Given the description of an element on the screen output the (x, y) to click on. 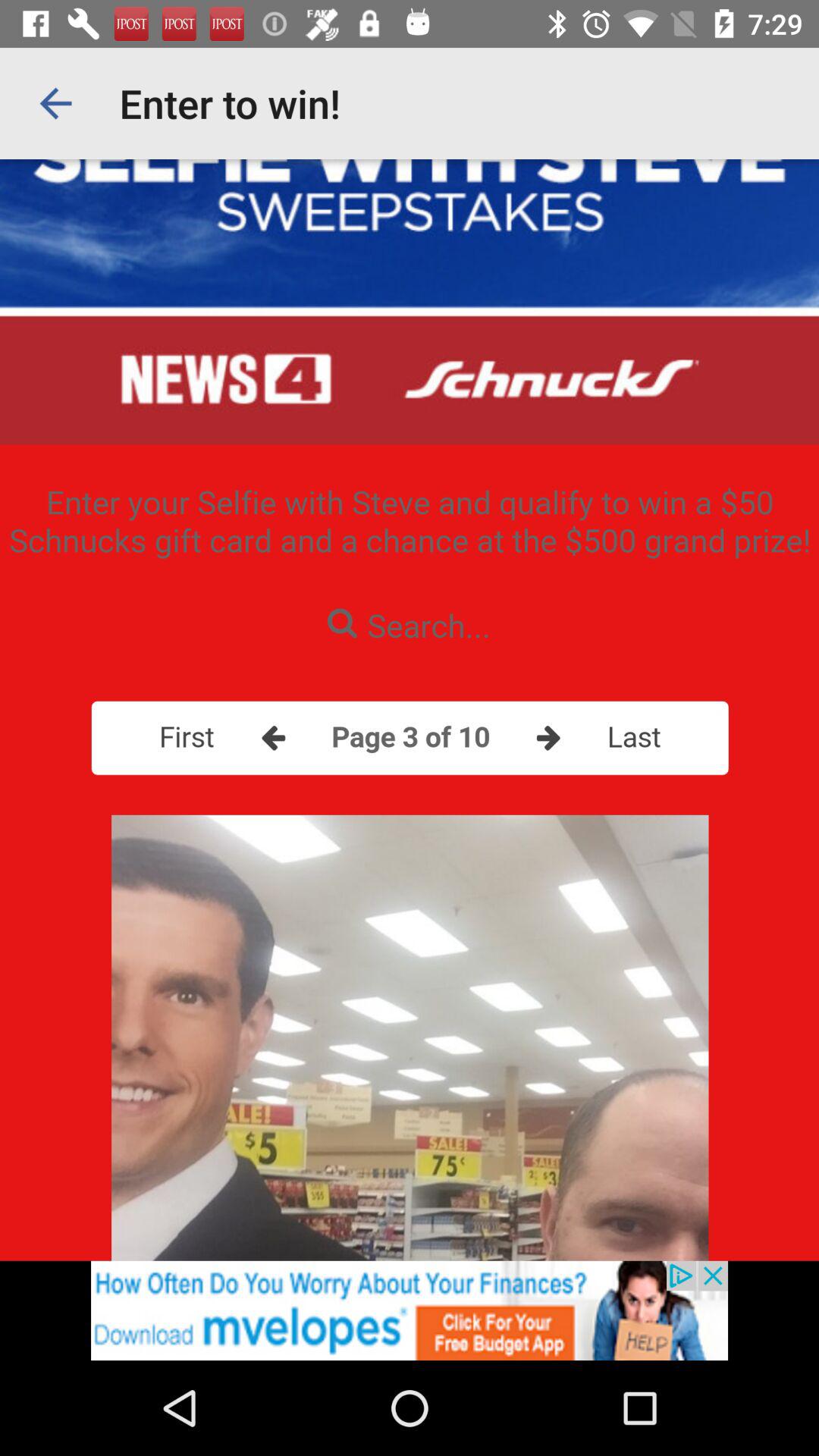
advertisement for outside of app (409, 1310)
